Given the description of an element on the screen output the (x, y) to click on. 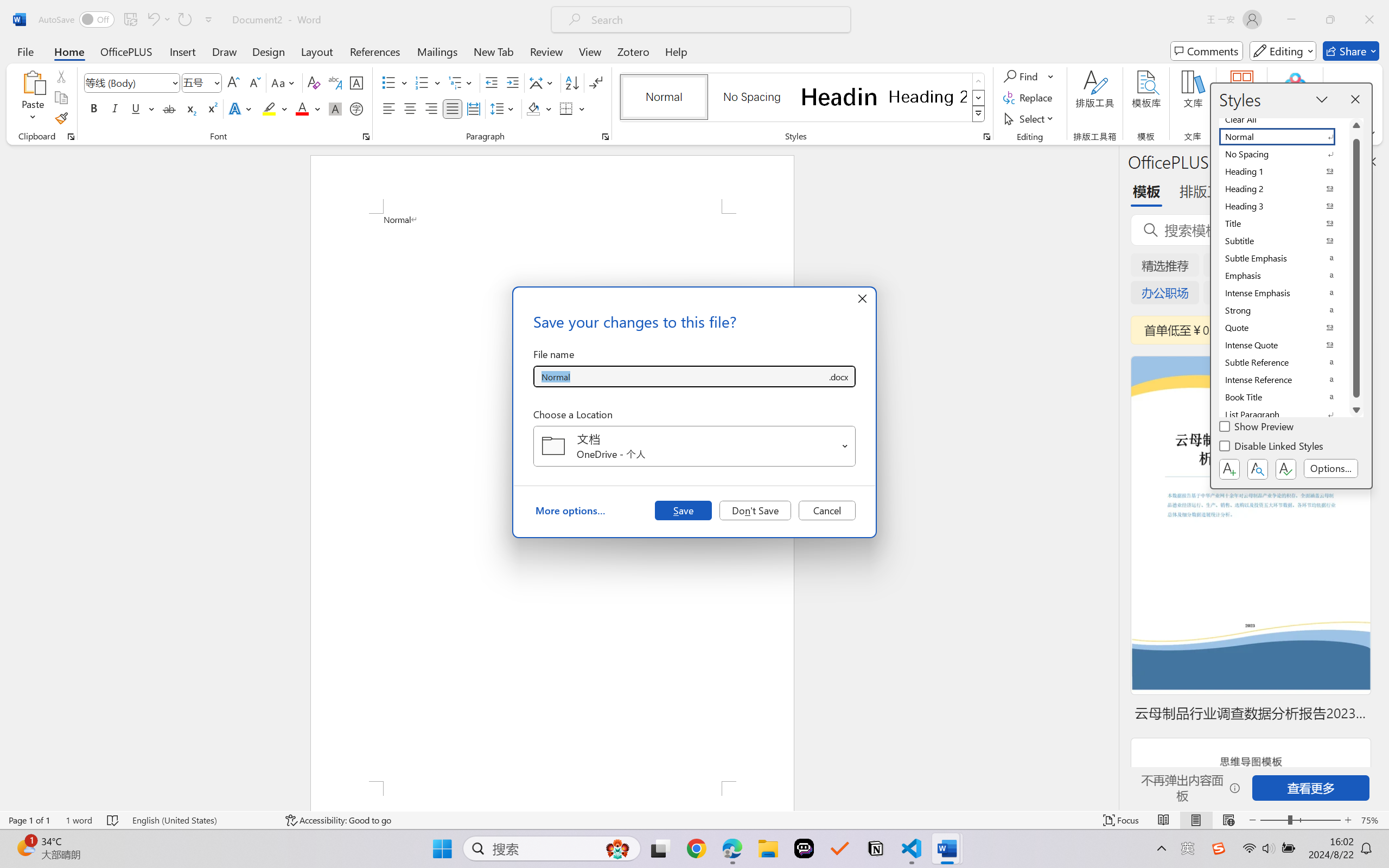
Distributed (473, 108)
OfficePLUS (126, 51)
Book Title (1283, 397)
Numbering (428, 82)
Asian Layout (542, 82)
Options... (1331, 468)
Language English (United States) (201, 819)
Clear Formatting (313, 82)
Office Clipboard... (70, 136)
Text Highlight Color Yellow (269, 108)
List Paragraph (1283, 414)
Save as type (837, 376)
Class: NetUIScrollBar (1111, 477)
Class: NetUIImage (978, 114)
